Given the description of an element on the screen output the (x, y) to click on. 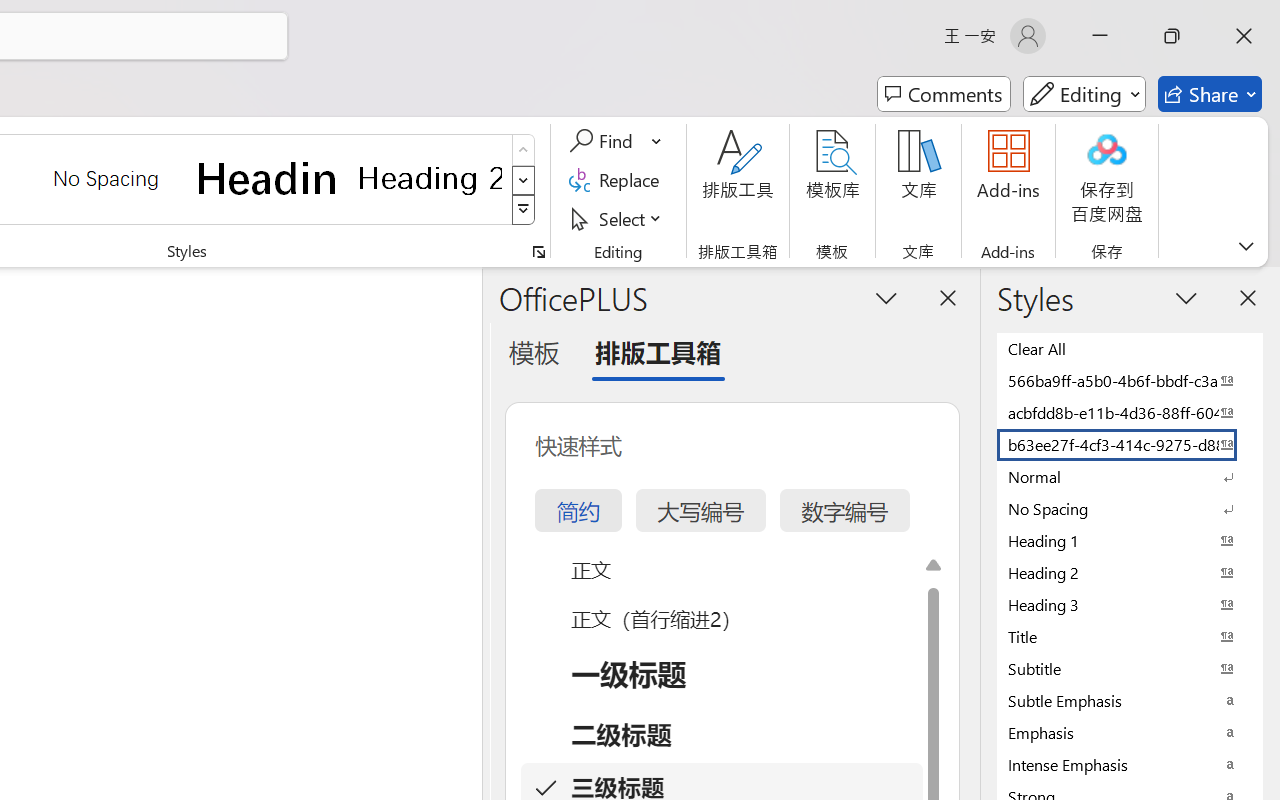
b63ee27f-4cf3-414c-9275-d88e3f90795e (1130, 444)
Subtle Emphasis (1130, 700)
Comments (943, 94)
Ribbon Display Options (1246, 245)
Share (1210, 94)
Intense Emphasis (1130, 764)
Title (1130, 636)
acbfdd8b-e11b-4d36-88ff-6049b138f862 (1130, 412)
Replace... (617, 179)
Mode (1083, 94)
